Given the description of an element on the screen output the (x, y) to click on. 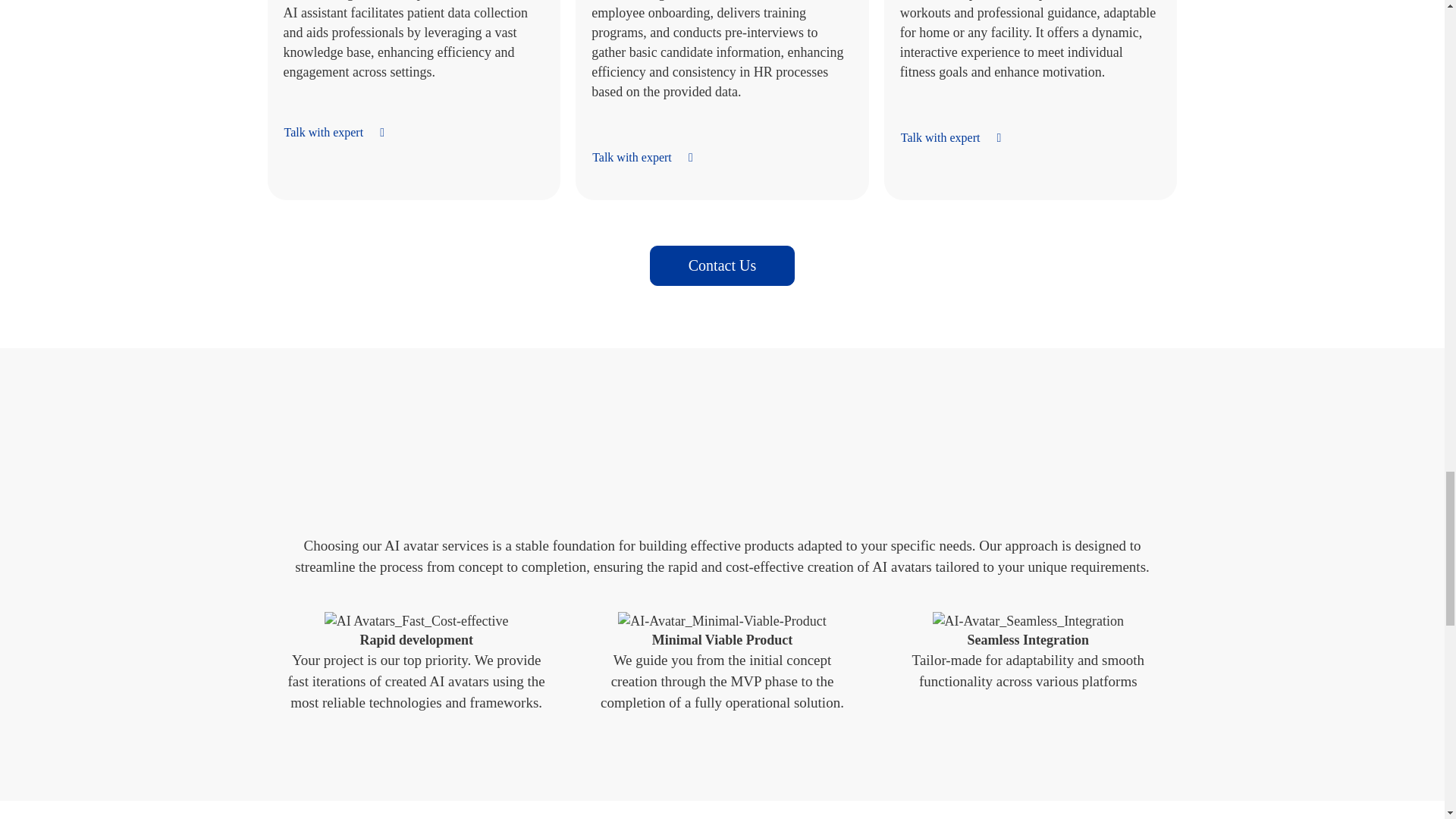
Talk with expert (342, 132)
Talk with expert (958, 137)
Contact Us (721, 265)
Talk with expert (650, 157)
